Given the description of an element on the screen output the (x, y) to click on. 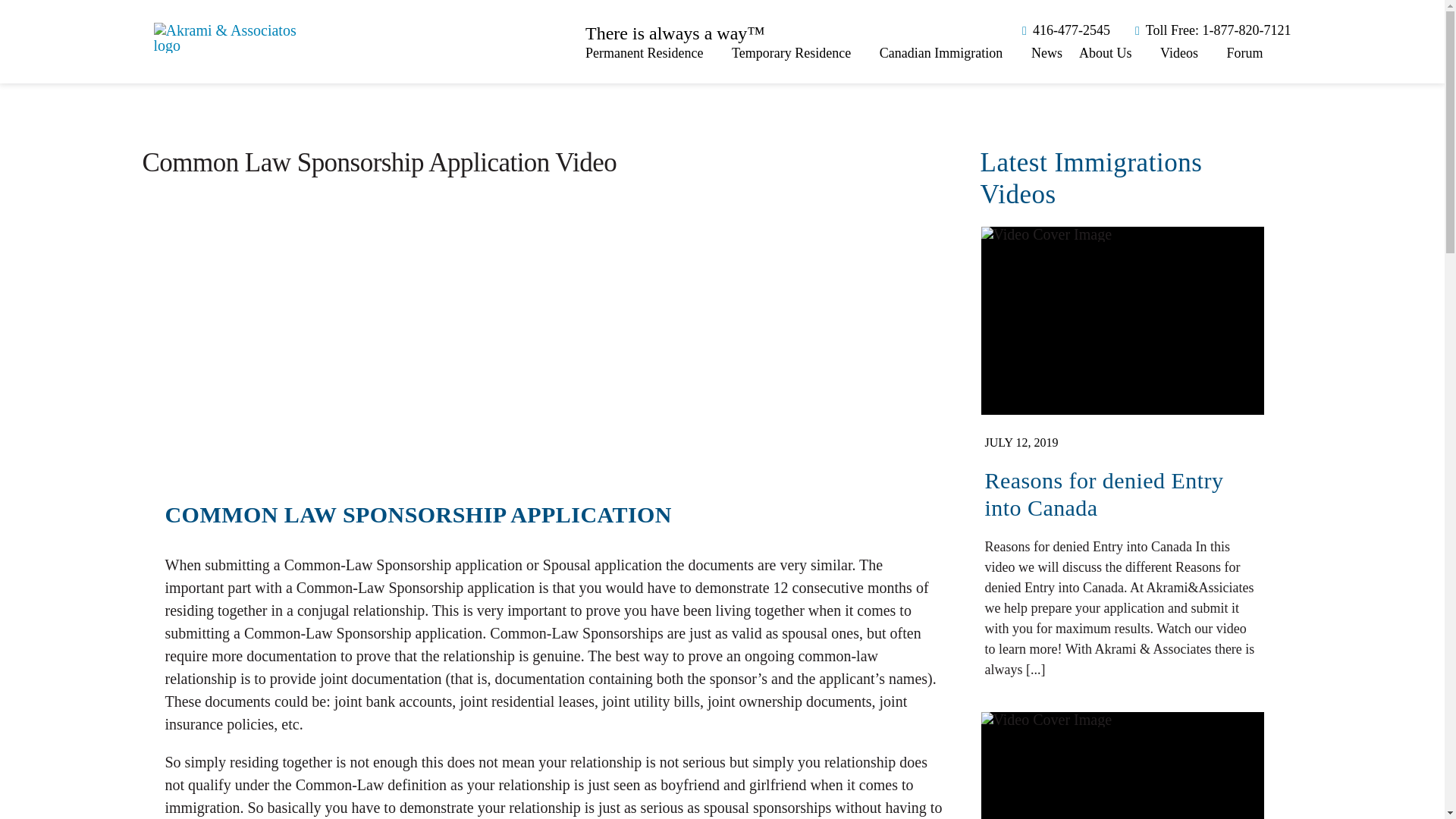
Screenshot 2023-07-11 at 2.38.03 PM (1046, 233)
Permanent Residence (649, 52)
Screenshot 2023-07-11 at 2.16.59 PM (1046, 719)
Toll Free: 1-877-820-7121 (1210, 30)
Temporary Residence (797, 52)
416-477-2545 (1062, 30)
